Given the description of an element on the screen output the (x, y) to click on. 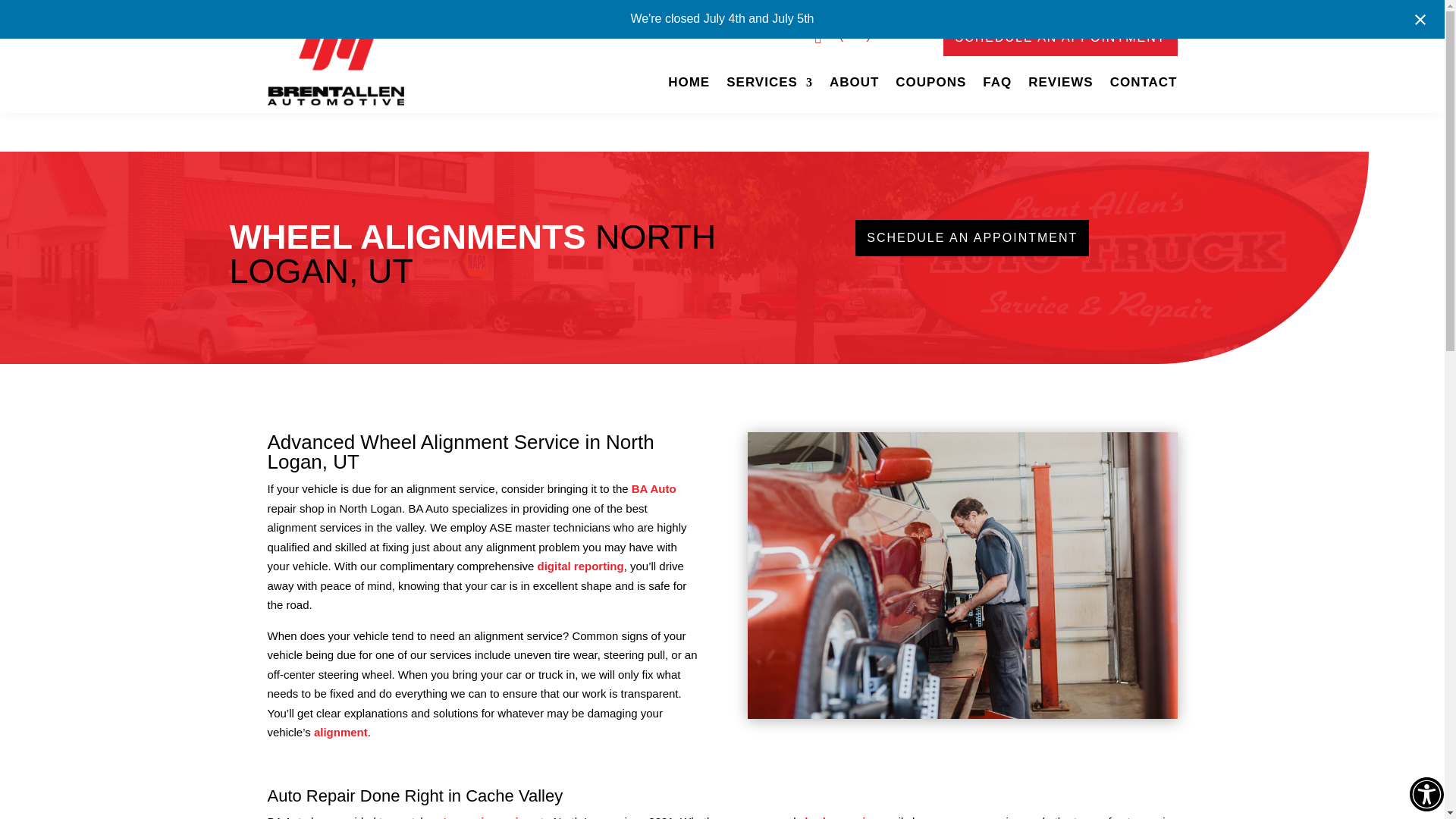
Read Customer Reviews (1060, 85)
REVIEWS (1060, 85)
Contact Brent Allen Automotive (1143, 85)
CONTACT (1143, 85)
SCHEDULE AN APPOINTMENT (1059, 37)
alignments-north-logan-ut (962, 575)
COUPONS (930, 85)
SERVICES (769, 85)
About Brent Allen Automotive (854, 85)
HOME (689, 85)
Accessibility Tools (1426, 794)
ABOUT (854, 85)
FAQ (996, 85)
